Given the description of an element on the screen output the (x, y) to click on. 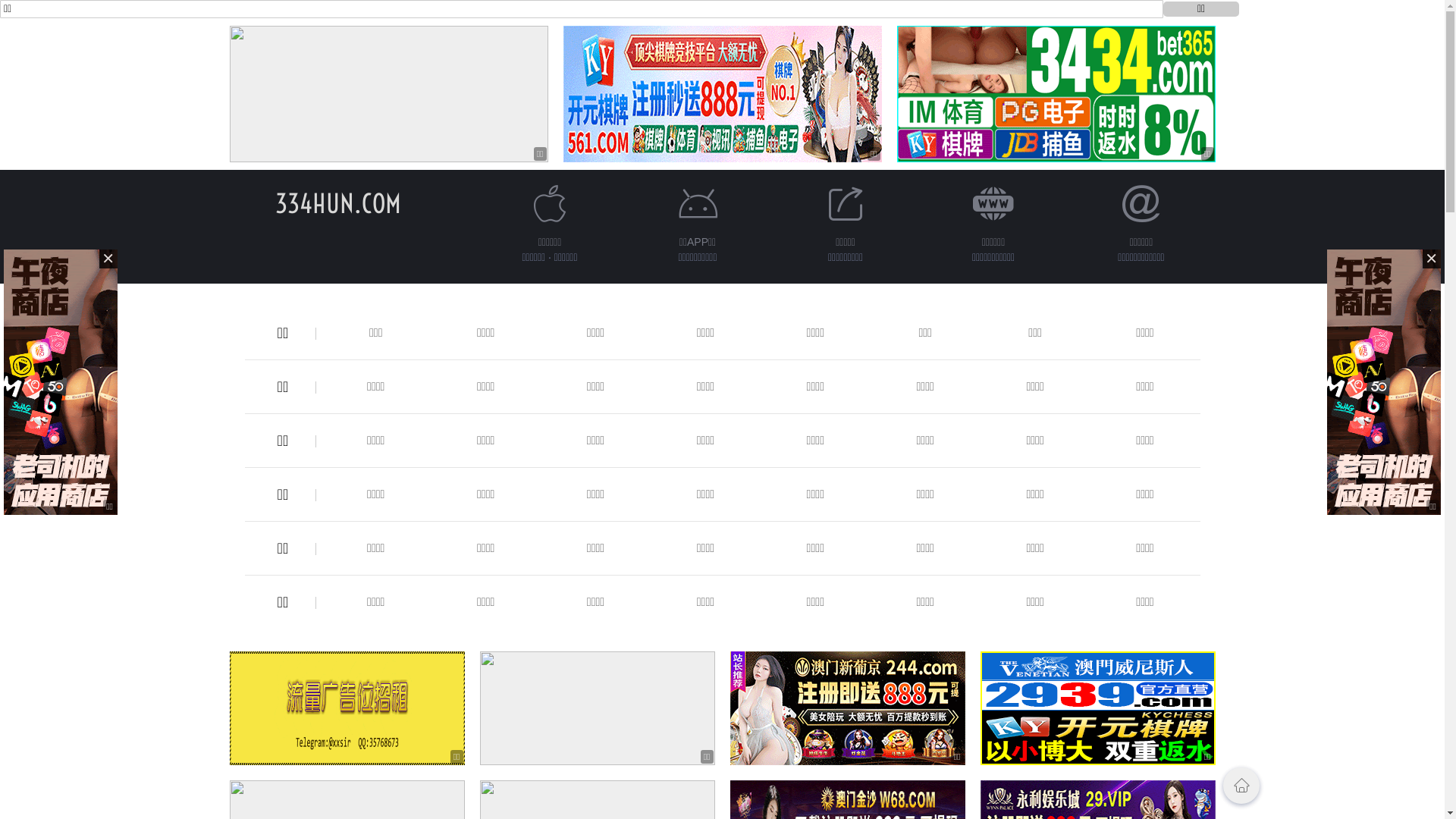
334HUN.COM Element type: text (337, 203)
